Given the description of an element on the screen output the (x, y) to click on. 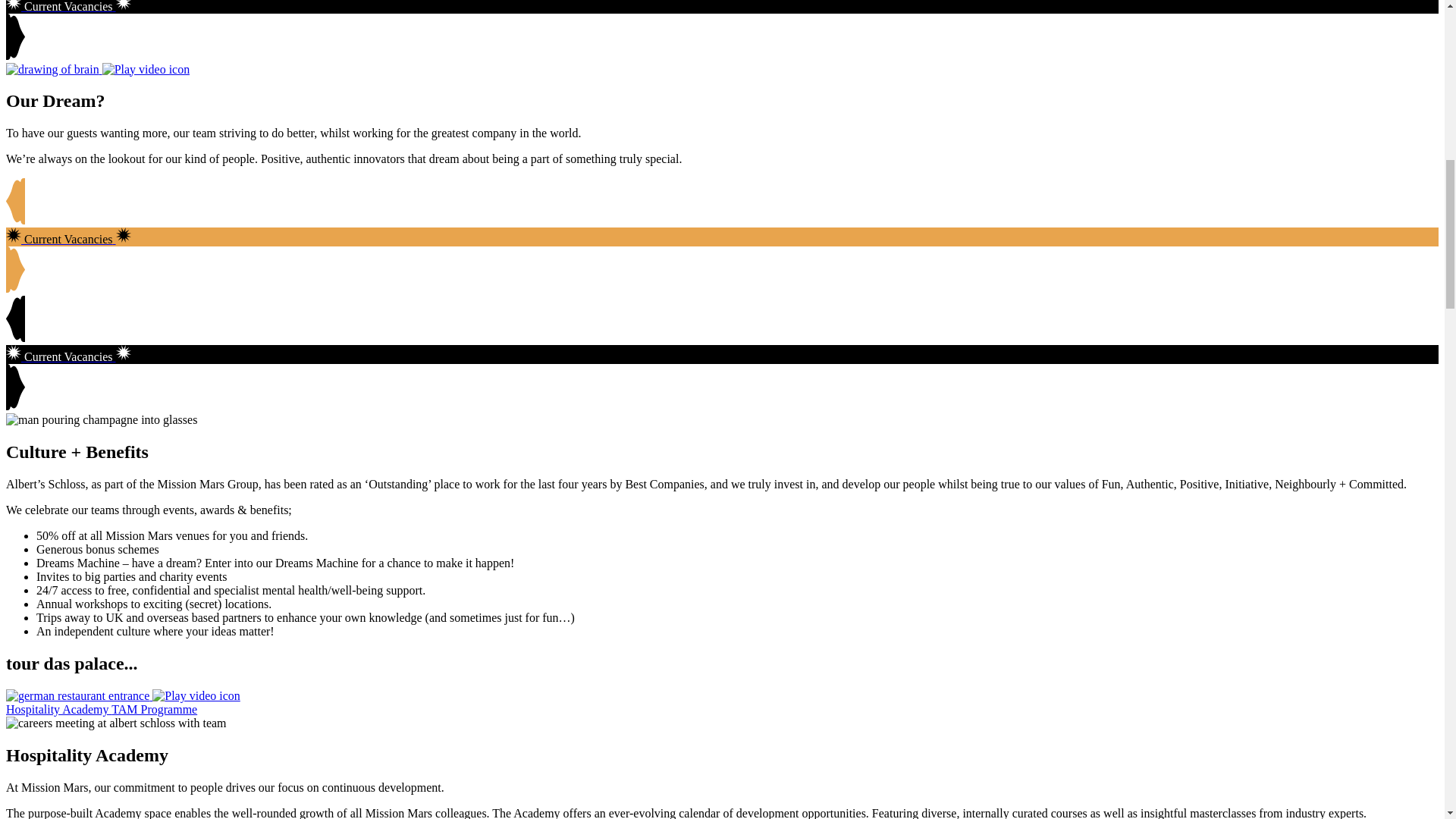
Hospitality Academy (58, 708)
TAM Programme (154, 708)
